Given the description of an element on the screen output the (x, y) to click on. 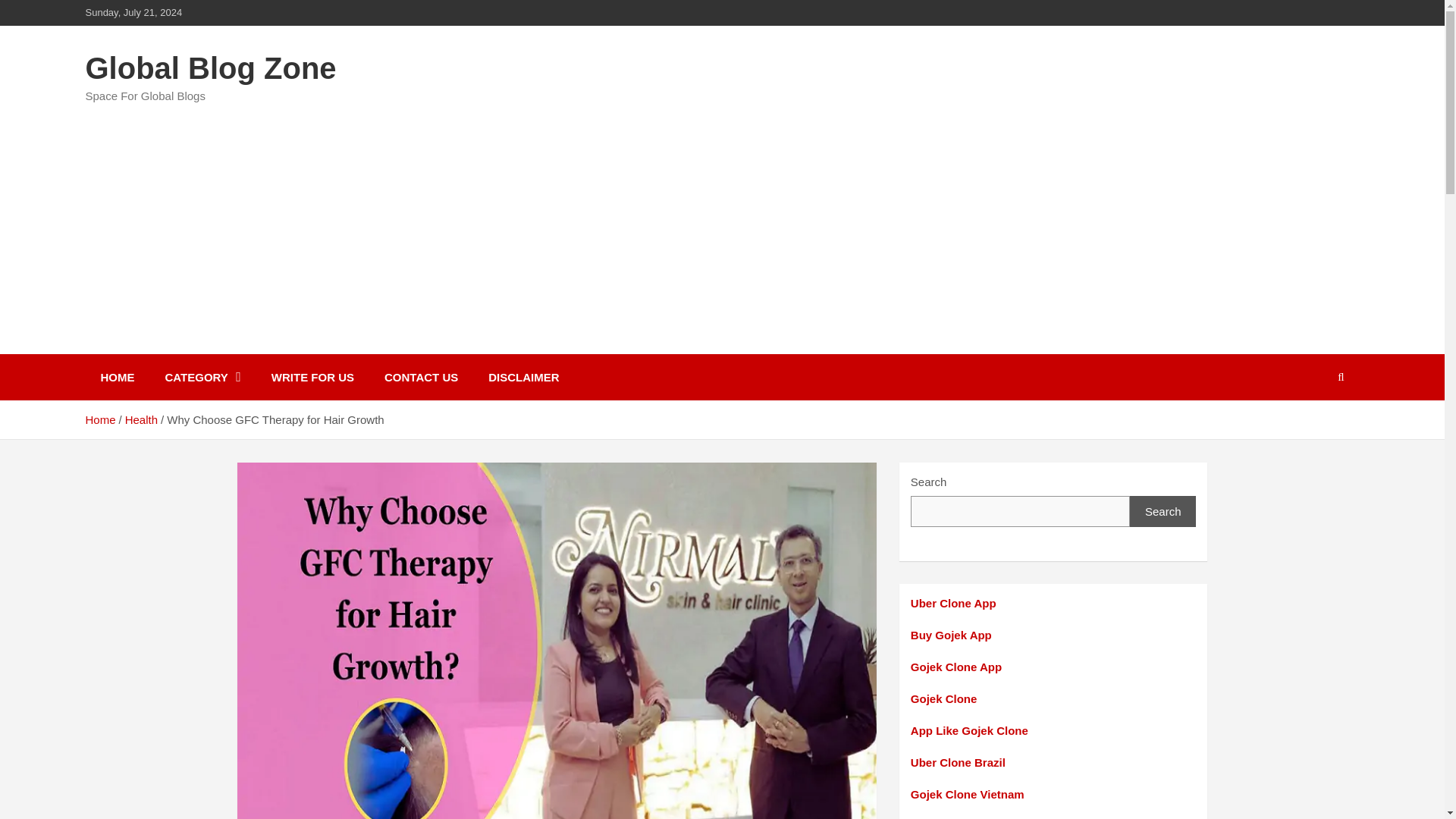
Health (141, 419)
WRITE FOR US (312, 376)
Home (99, 419)
HOME (116, 376)
CONTACT US (421, 376)
DISCLAIMER (523, 376)
CATEGORY (202, 376)
Global Blog Zone (210, 68)
